Given the description of an element on the screen output the (x, y) to click on. 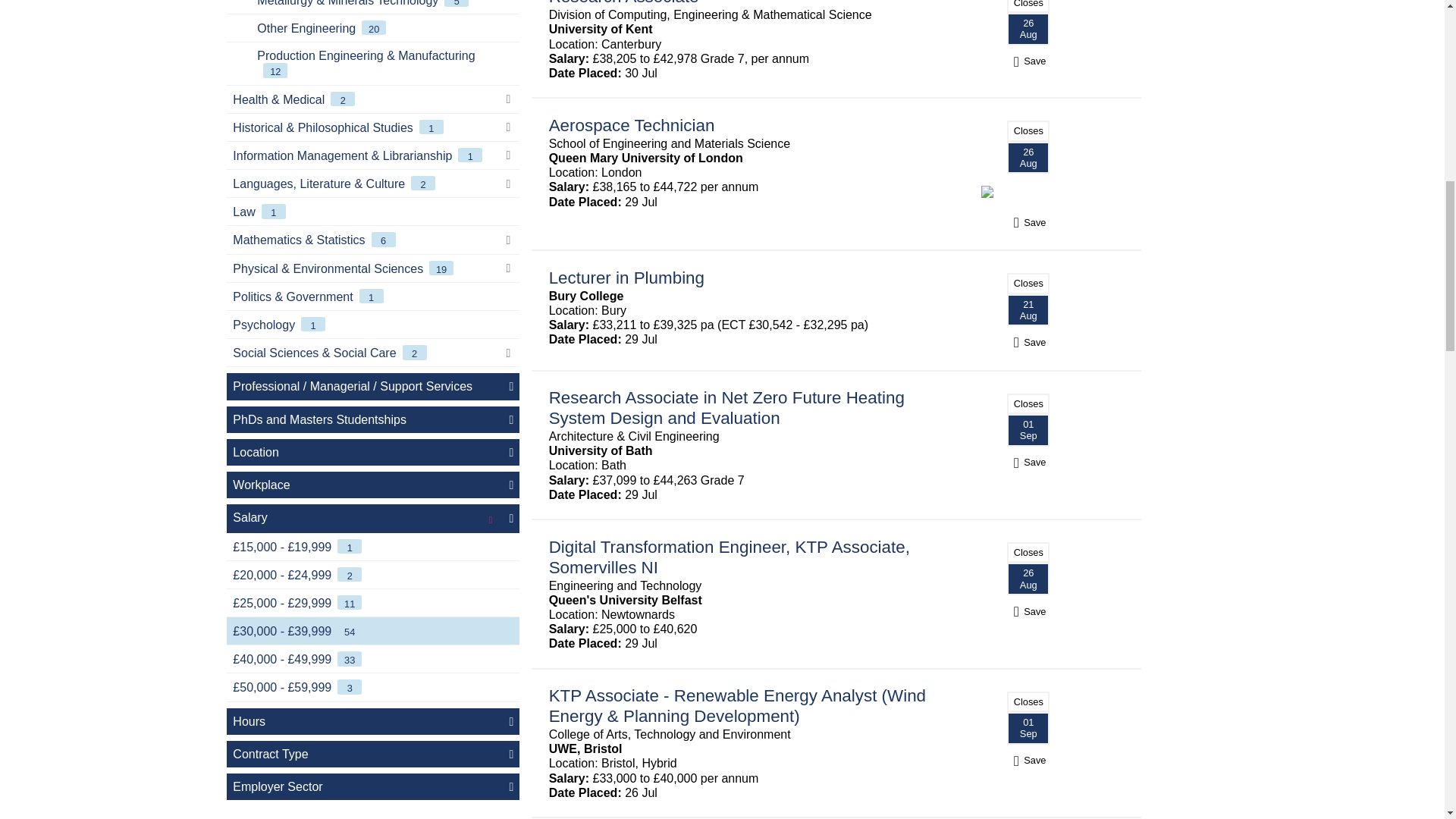
Save job (1027, 611)
Save job (1027, 342)
Save job (1027, 60)
Save job (1027, 759)
Save job (1027, 222)
Save job (1027, 462)
